Given the description of an element on the screen output the (x, y) to click on. 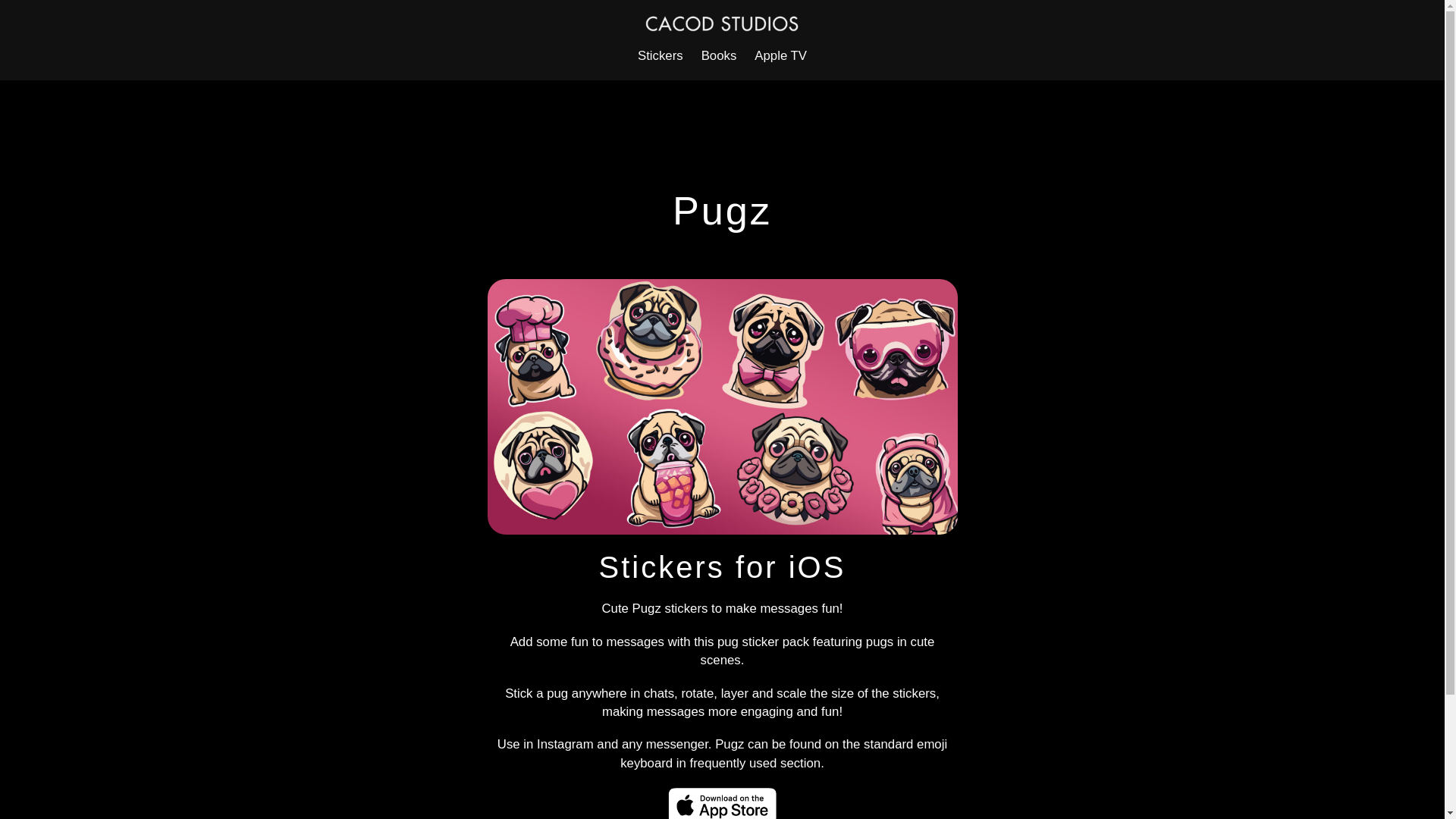
Books (718, 55)
Stickers (659, 55)
Apple TV (780, 55)
